Given the description of an element on the screen output the (x, y) to click on. 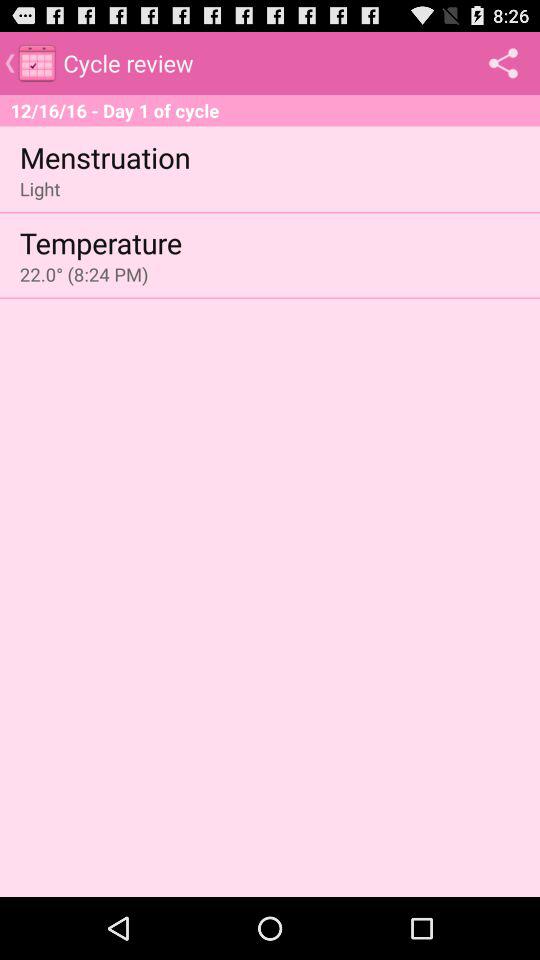
scroll until temperature icon (100, 242)
